Given the description of an element on the screen output the (x, y) to click on. 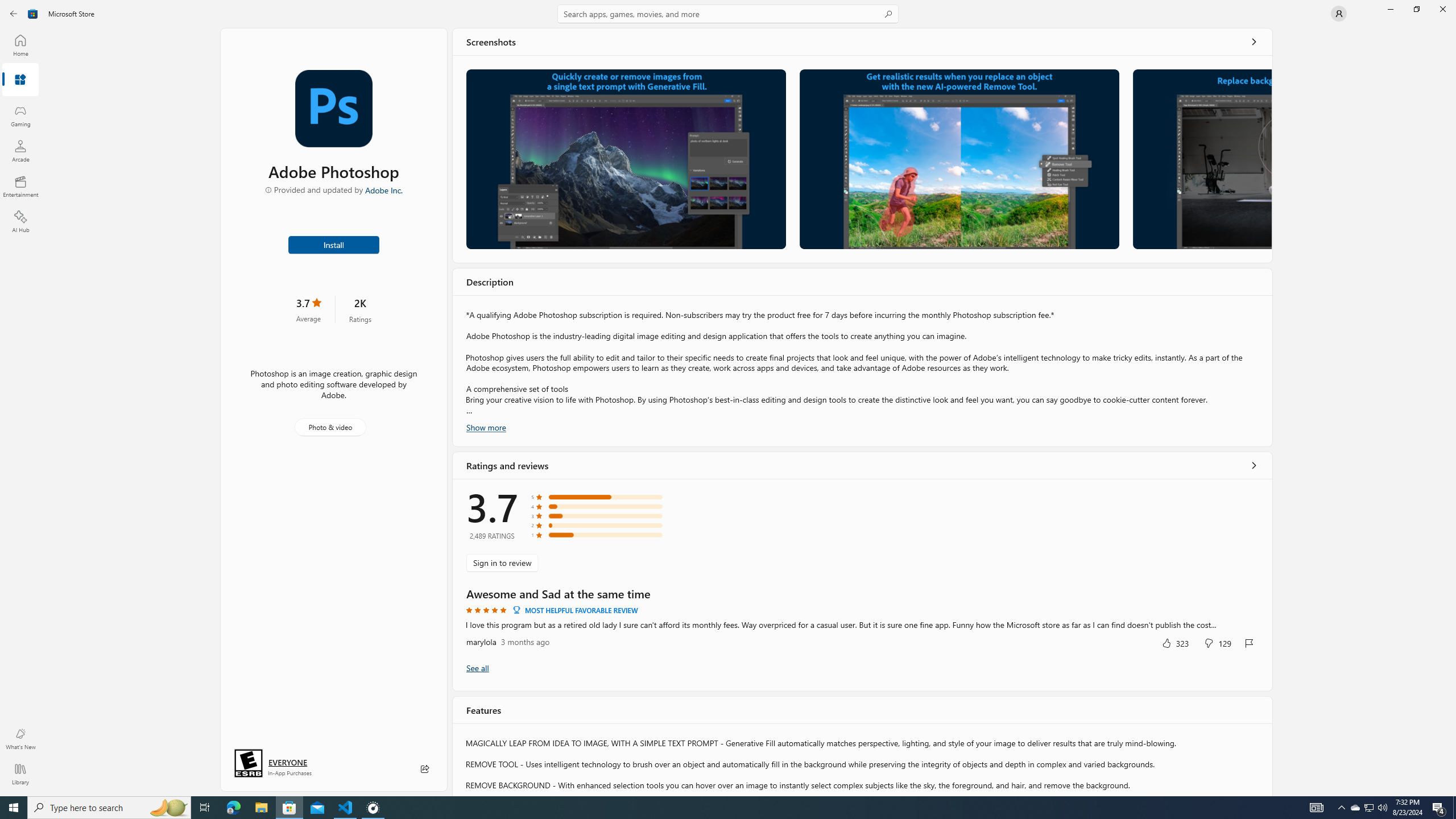
Show all ratings and reviews (1253, 465)
Sign in to review (501, 562)
No, this was not helpful. 129 votes. (1217, 642)
3.7 stars. Click to skip to ratings and reviews (307, 309)
Photo & video (329, 426)
Search (727, 13)
Screenshot 3 (1201, 158)
Show more (485, 426)
Screenshot 2 (959, 158)
Report review (1248, 642)
